Given the description of an element on the screen output the (x, y) to click on. 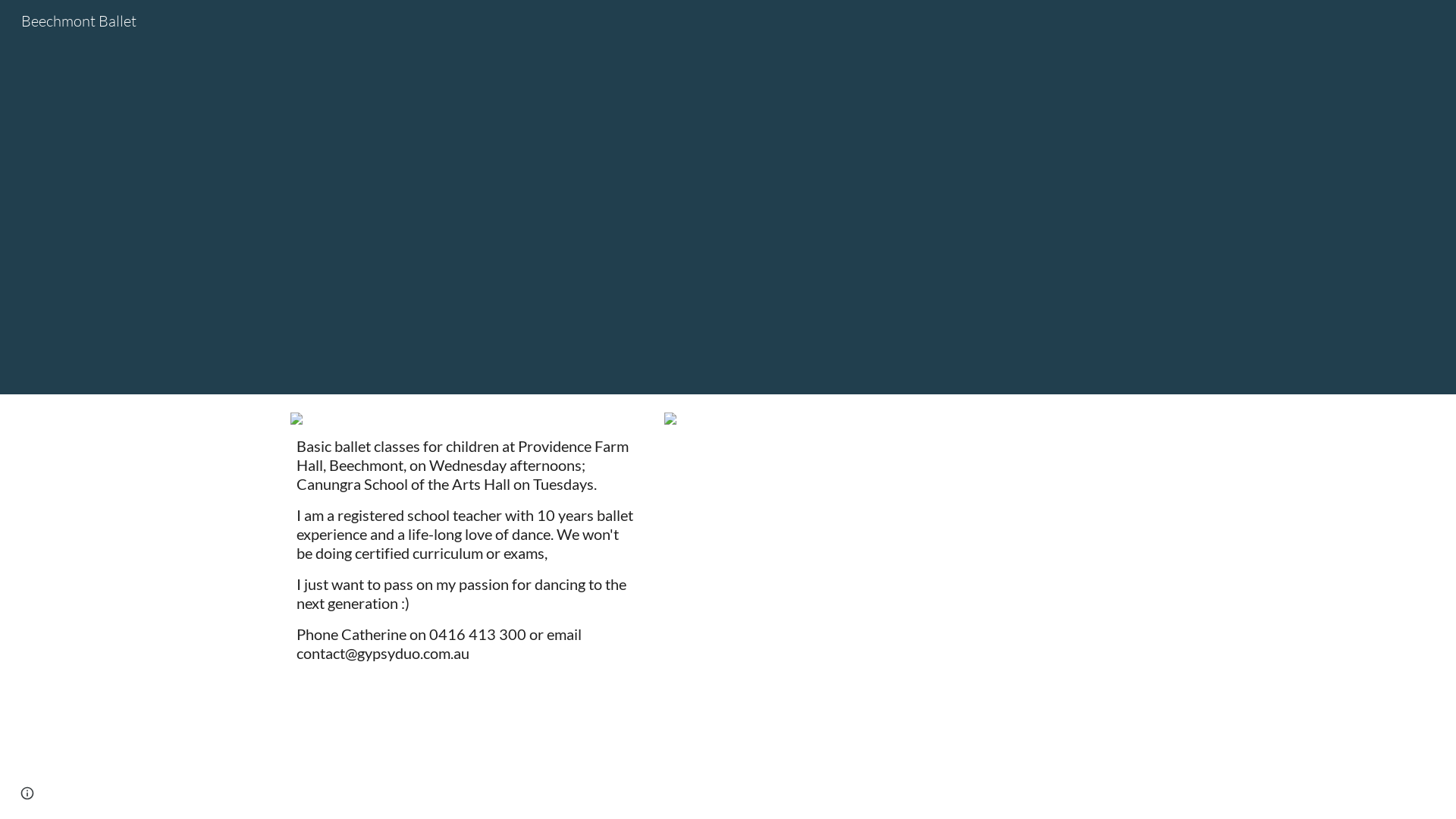
Beechmont Ballet Element type: text (78, 18)
